Given the description of an element on the screen output the (x, y) to click on. 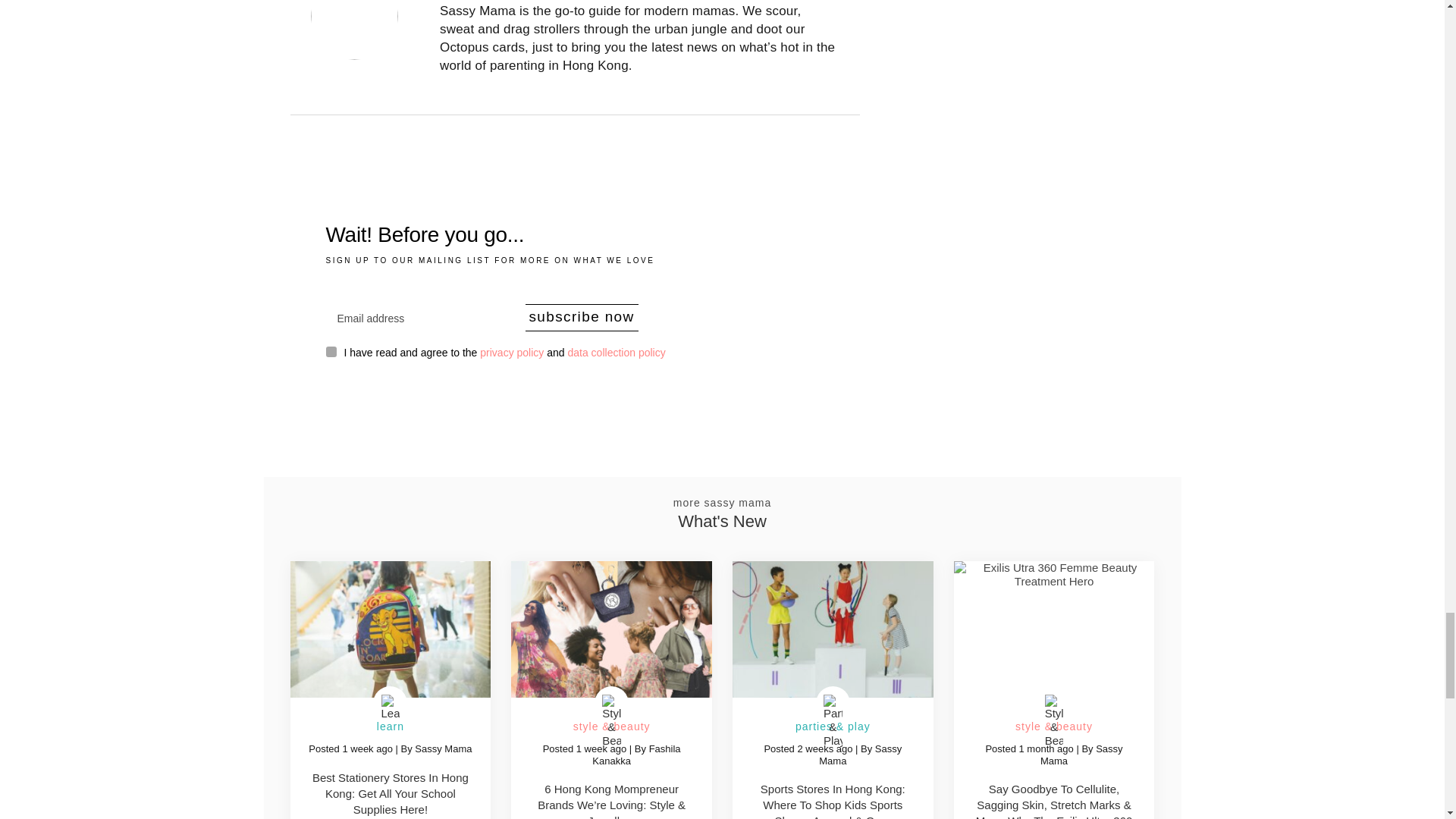
on (331, 351)
subscribe now (580, 317)
